Given the description of an element on the screen output the (x, y) to click on. 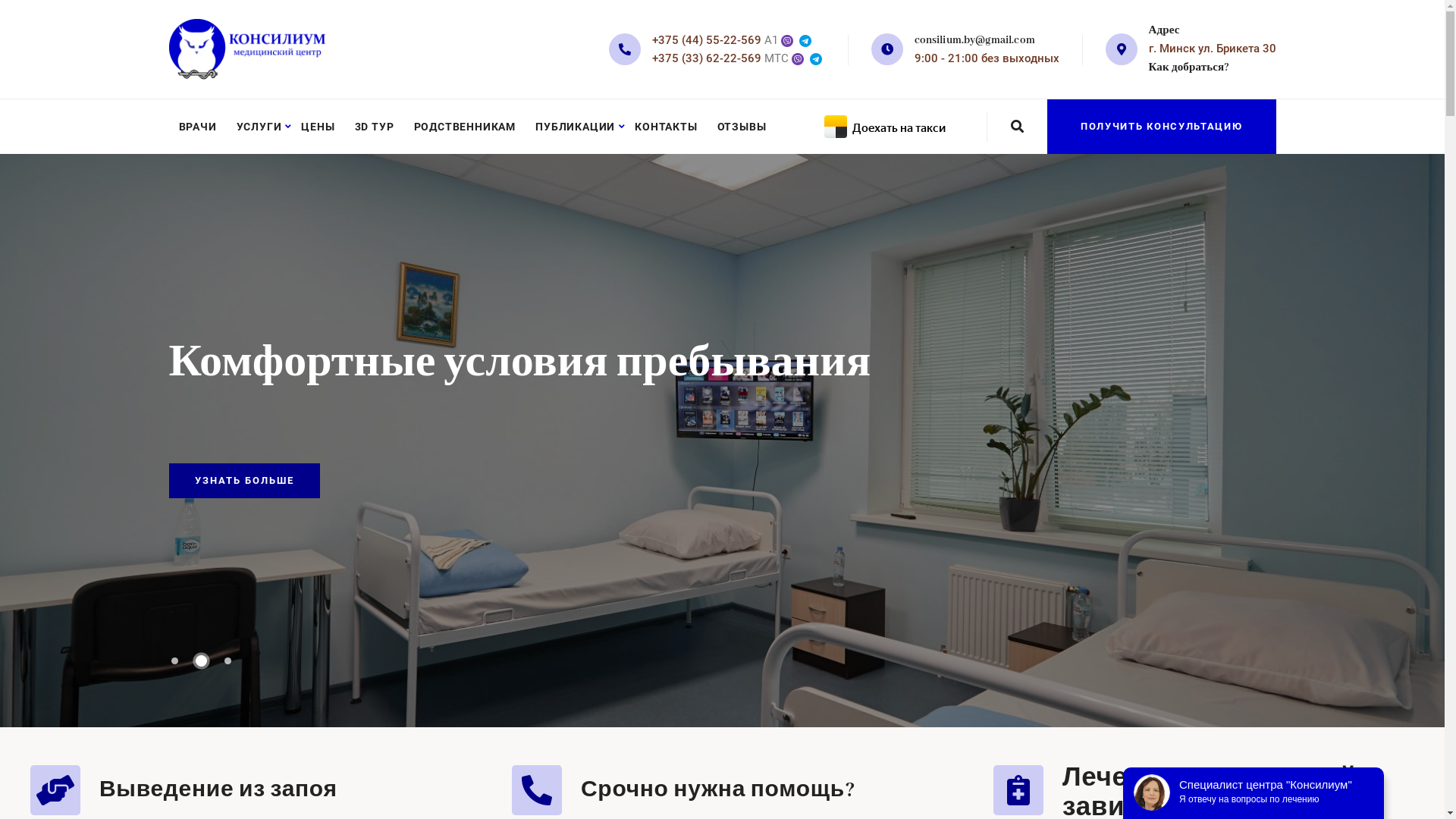
+375 (33) 62-22-569 Element type: text (706, 58)
+375 (44) 55-22-569 Element type: text (706, 40)
consilium.by@gmail.com Element type: text (974, 40)
